Given the description of an element on the screen output the (x, y) to click on. 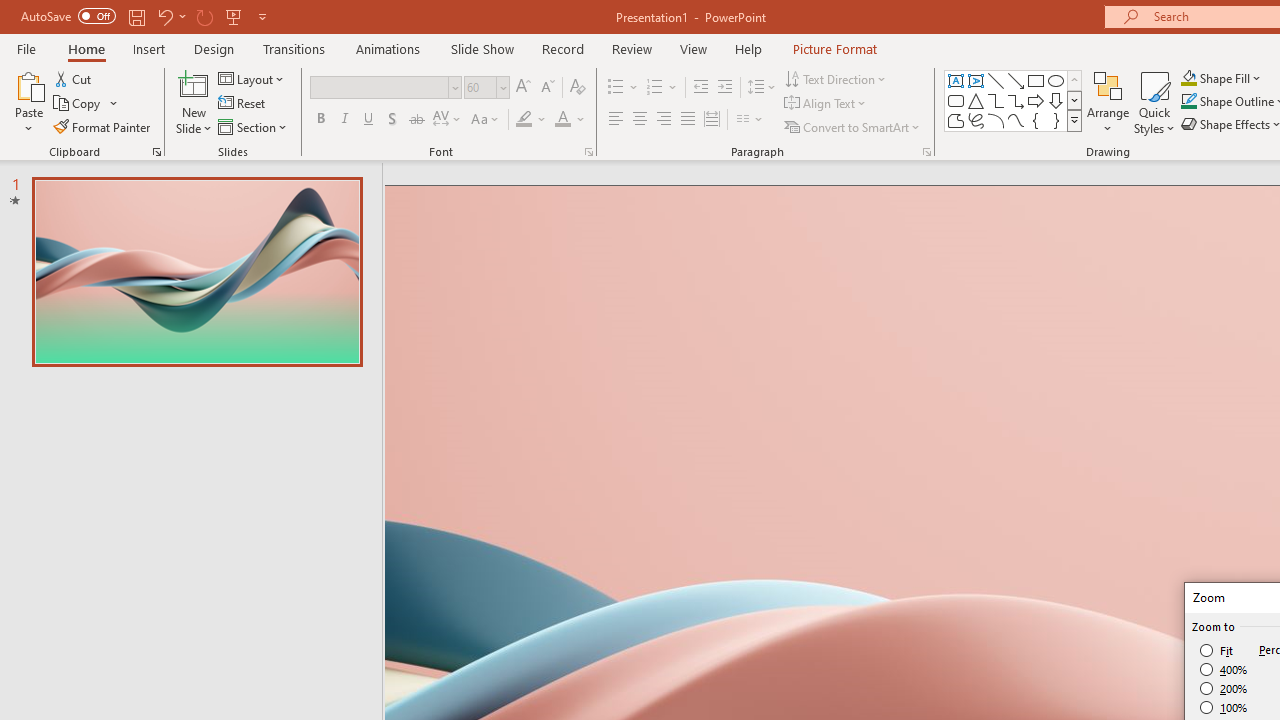
Arrow: Right (1035, 100)
Reset (243, 103)
Convert to SmartArt (853, 126)
Layout (252, 78)
Rectangle (1035, 80)
Strikethrough (416, 119)
Text Direction (836, 78)
Clear Formatting (577, 87)
Slide (196, 271)
Fit (1217, 650)
Columns (750, 119)
Office Clipboard... (156, 151)
Format Painter (103, 126)
